Given the description of an element on the screen output the (x, y) to click on. 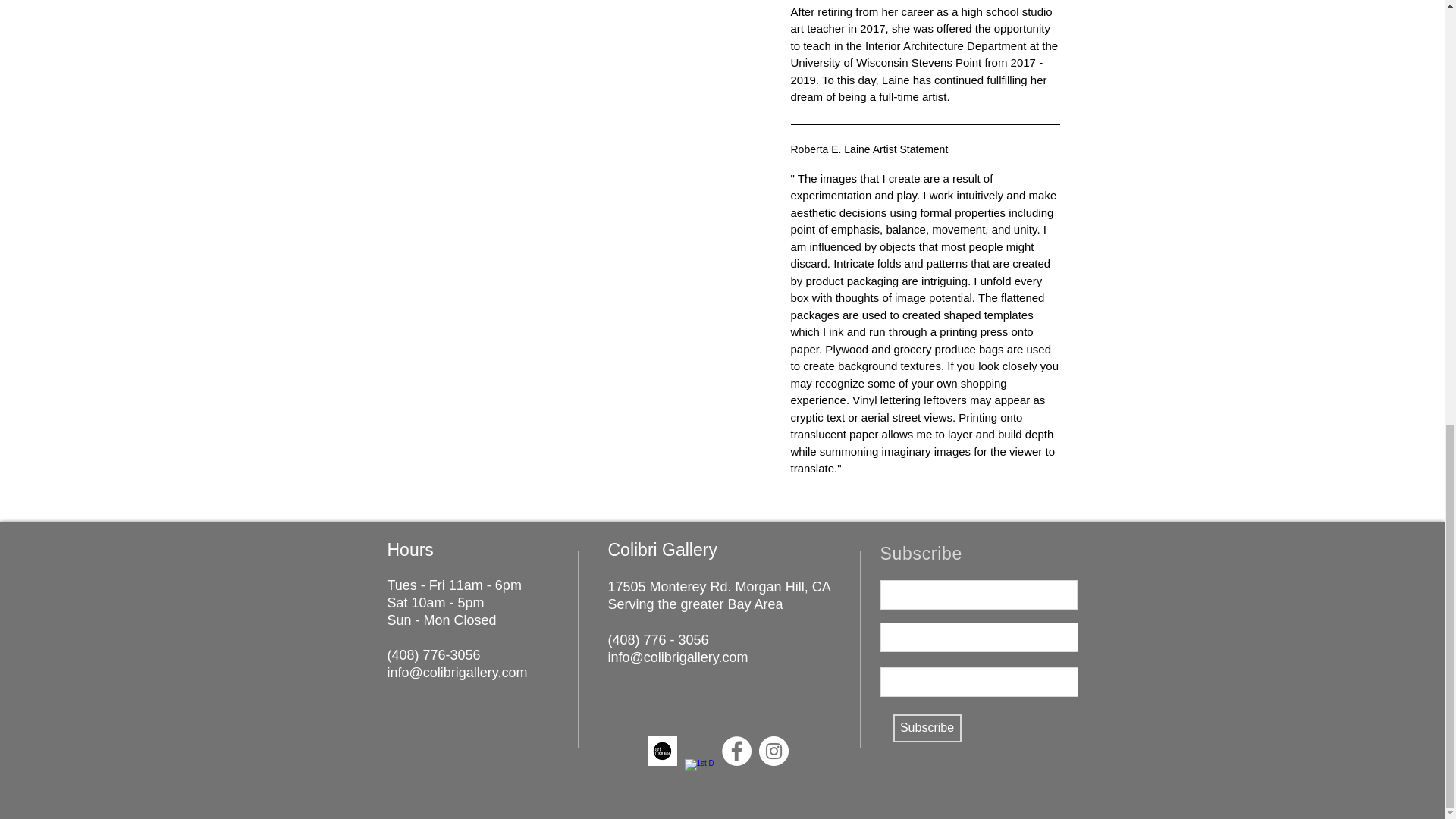
Subscribe (926, 728)
Colibri Gallery (662, 549)
Roberta E. Laine Artist Statement (924, 150)
